Given the description of an element on the screen output the (x, y) to click on. 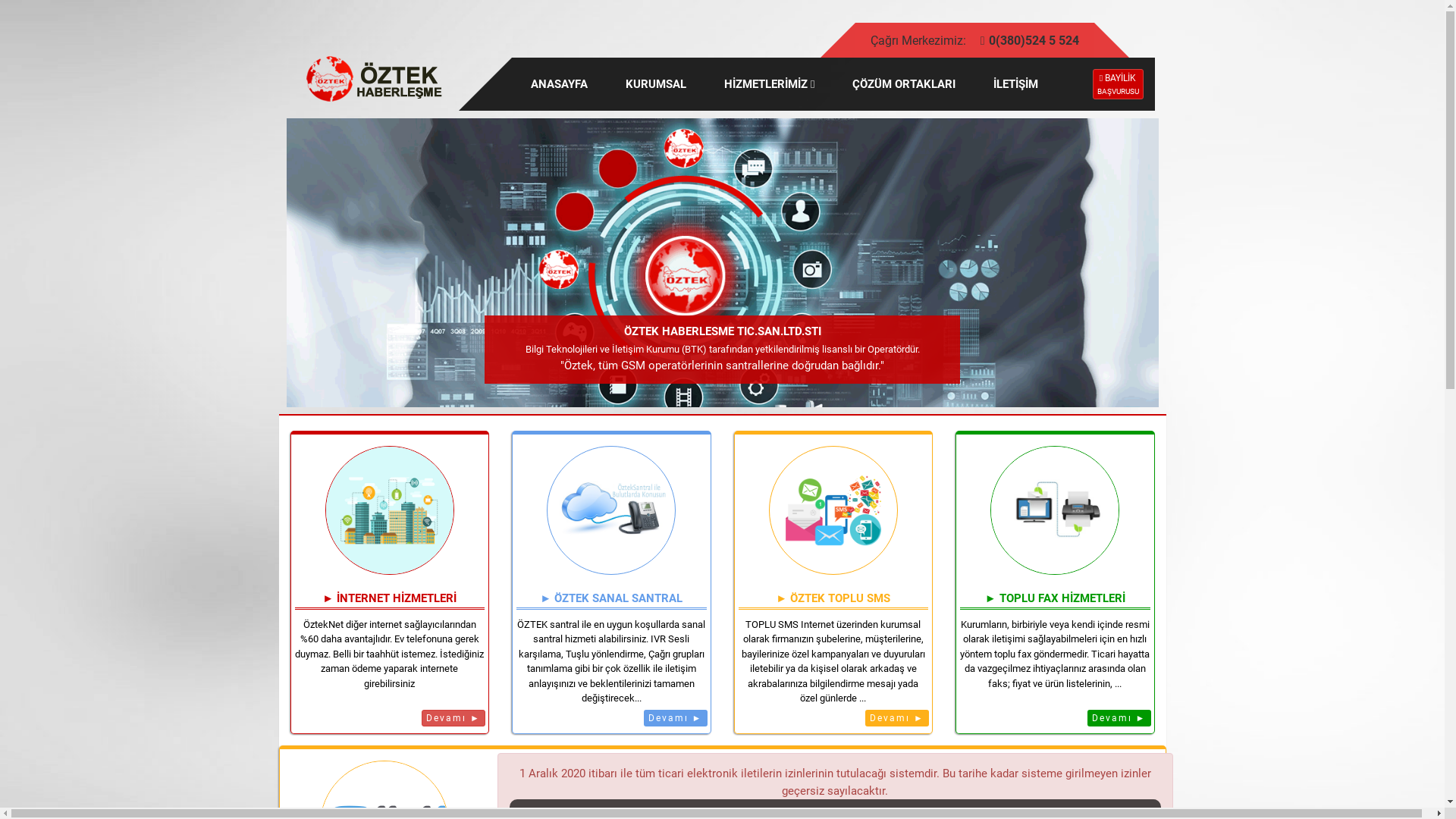
ANASAYFA Element type: text (558, 83)
KURUMSAL Element type: text (655, 83)
